Given the description of an element on the screen output the (x, y) to click on. 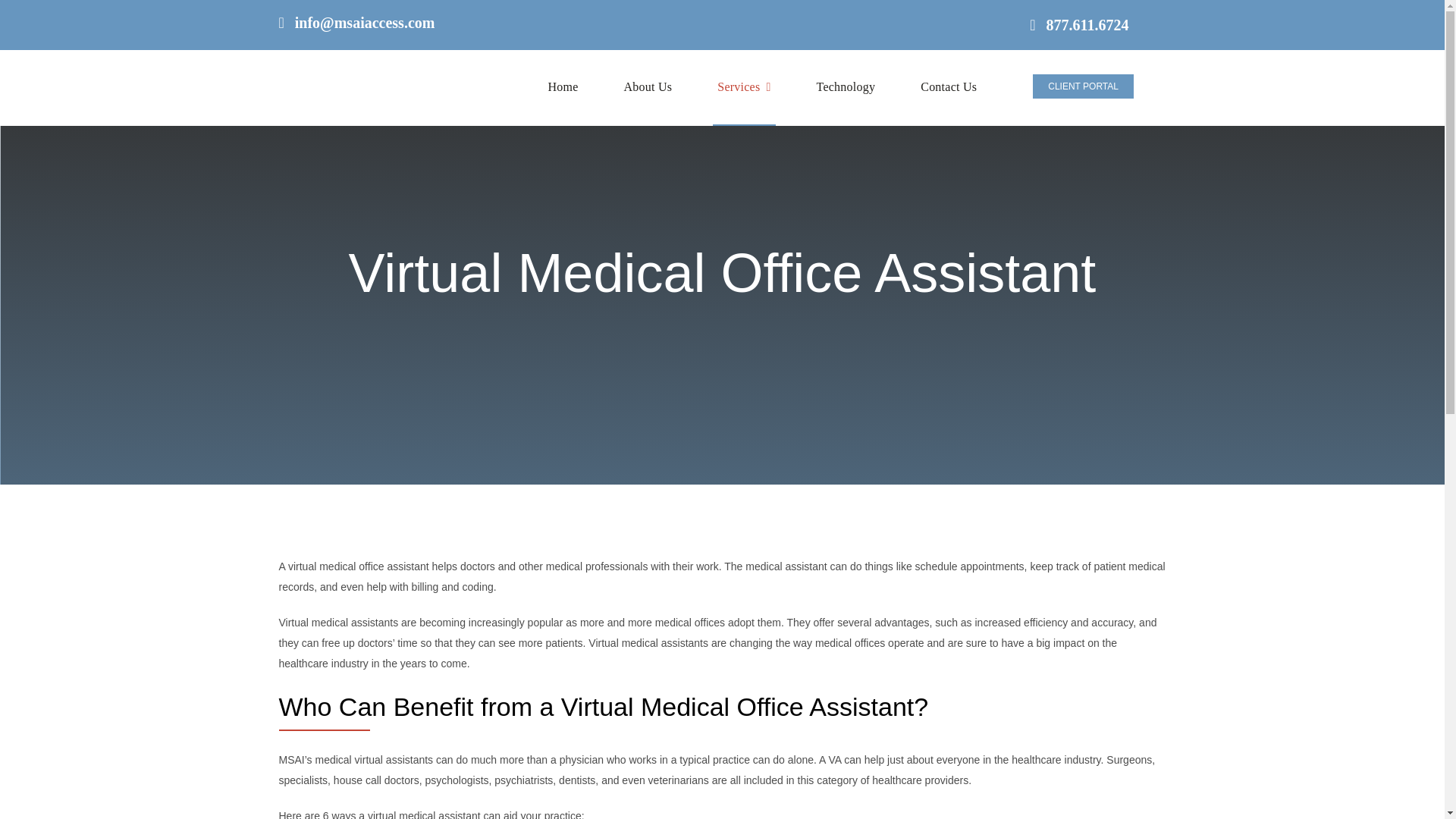
Technology (844, 87)
877.611.6724 (1078, 24)
CLIENT PORTAL (1082, 85)
